Given the description of an element on the screen output the (x, y) to click on. 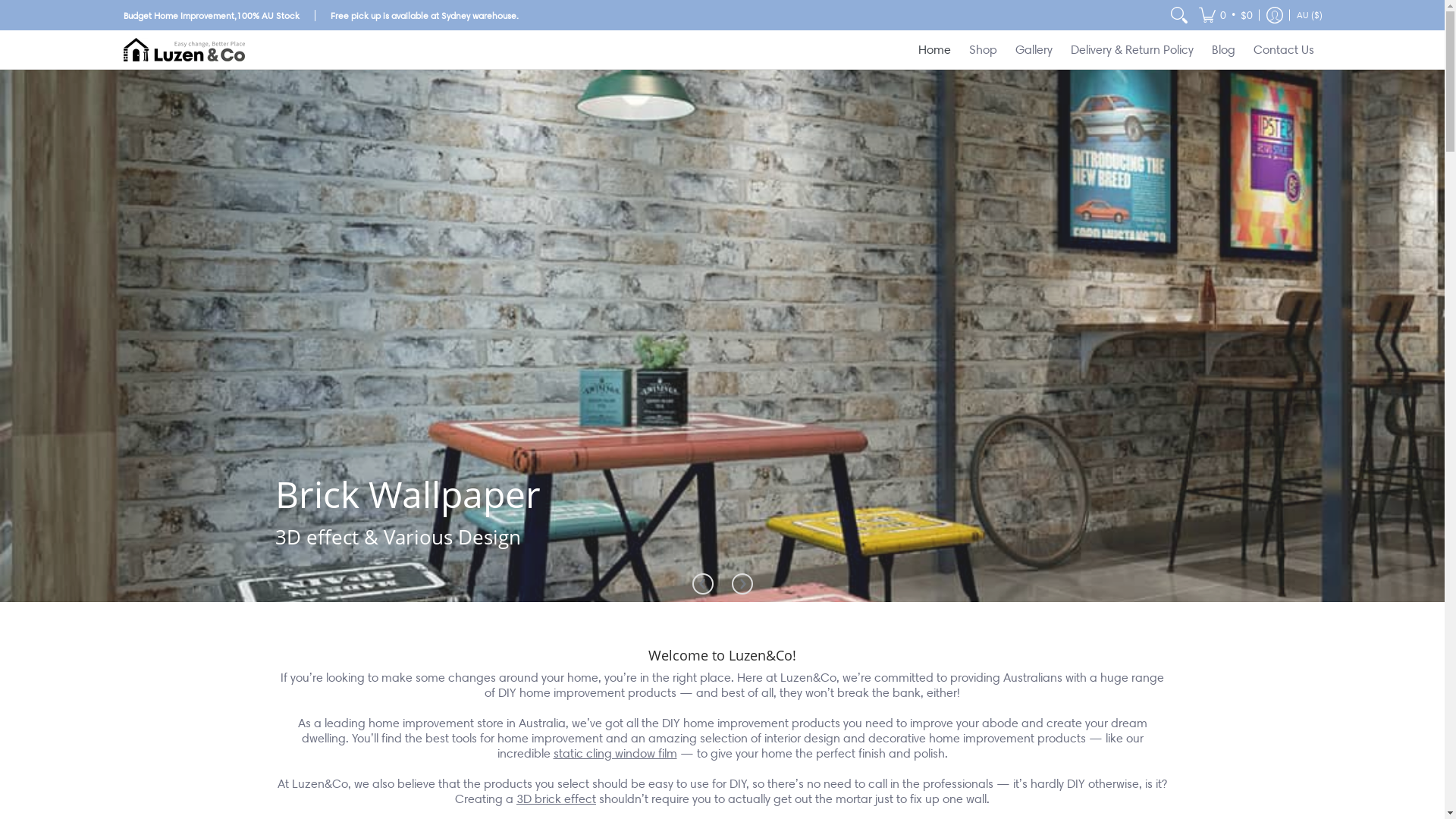
Log in Element type: hover (1273, 15)
Decking tiles Element type: hover (721, 335)
3D brick effect Element type: text (556, 798)
Shop Element type: text (982, 49)
Gallery Element type: text (1033, 49)
AU ($) Element type: text (1308, 15)
static cling window film Element type: text (615, 753)
Search Element type: hover (1179, 15)
Contact Us Element type: text (1283, 49)
Delivery & Return Policy Element type: text (1132, 49)
Home Element type: text (933, 49)
Blog Element type: text (1223, 49)
Luzen&Co Element type: hover (183, 49)
